Given the description of an element on the screen output the (x, y) to click on. 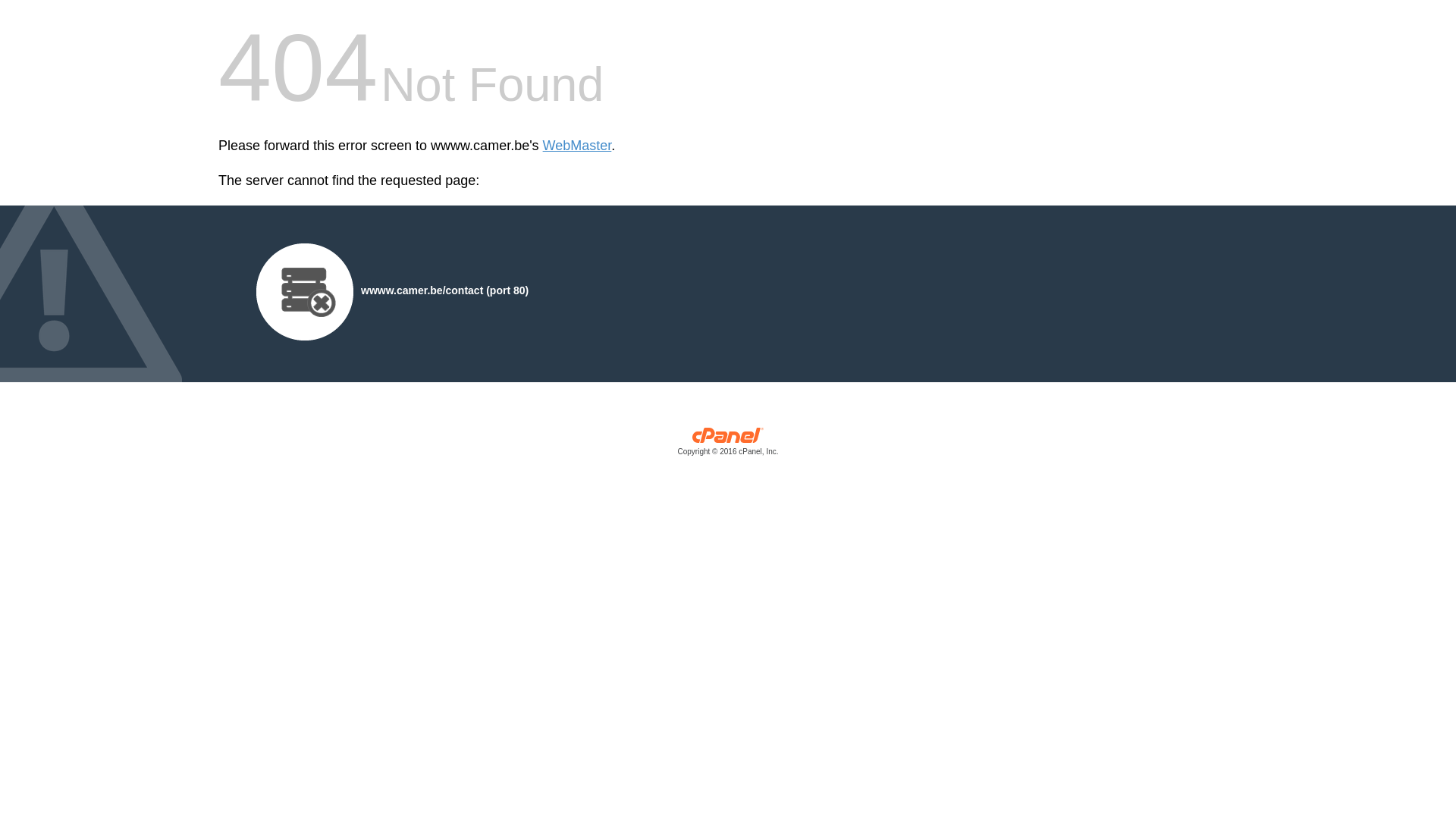
WebMaster Element type: text (576, 145)
